Given the description of an element on the screen output the (x, y) to click on. 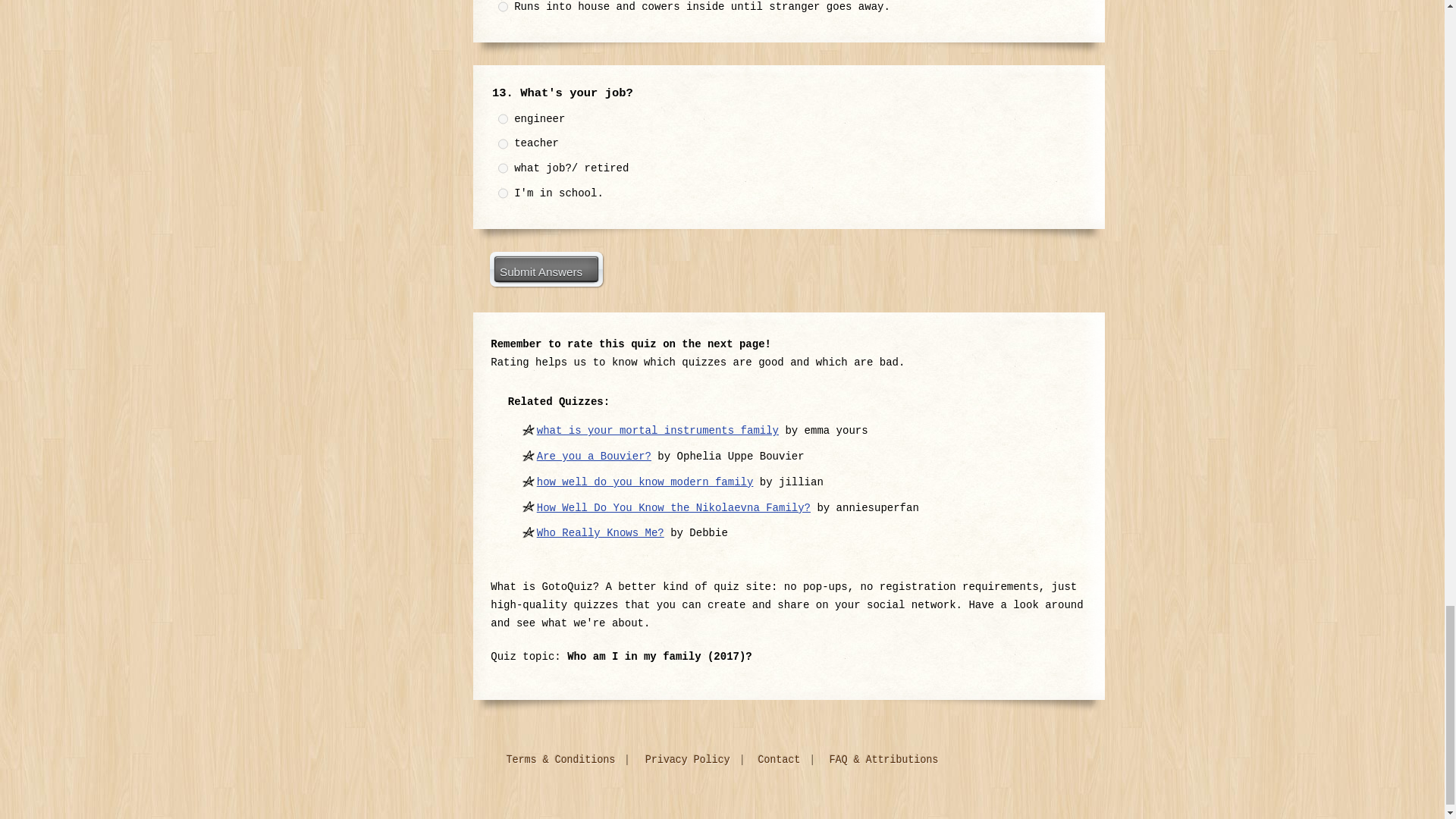
Submit Answers (545, 268)
how well do you know modern family (645, 481)
what is your mortal instruments family (657, 430)
Are you a Bouvier? (593, 456)
Who Really Knows Me? (600, 532)
Privacy Policy (690, 760)
How Well Do You Know the Nikolaevna Family? (673, 508)
Contact (780, 760)
